Given the description of an element on the screen output the (x, y) to click on. 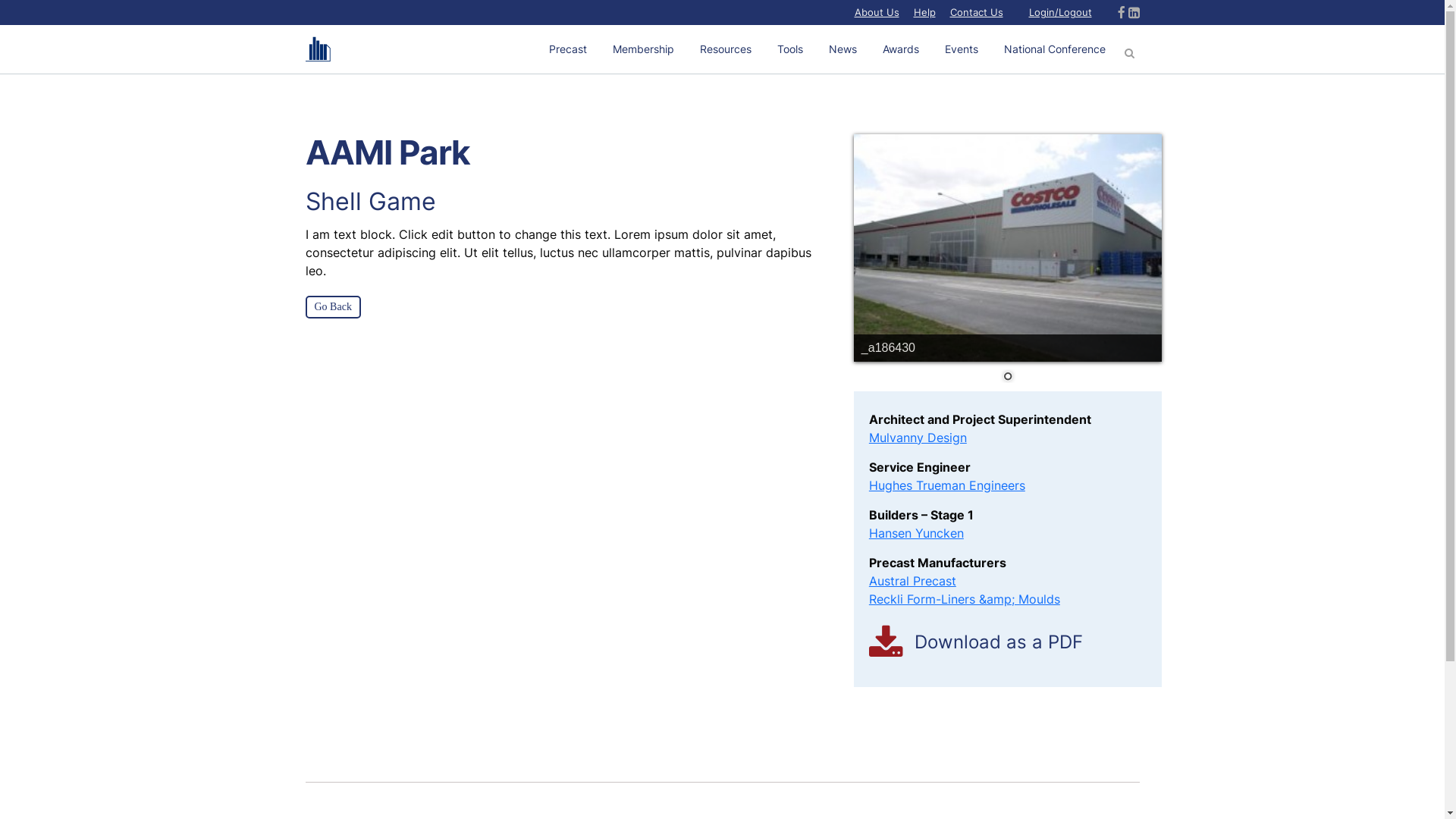
Hansen Yuncken Element type: text (916, 532)
Austral Precast Element type: text (912, 580)
Events Element type: text (960, 49)
Membership Element type: text (642, 49)
Contact Us Element type: text (975, 12)
1 Element type: text (1007, 377)
Hughes Trueman Engineers Element type: text (947, 484)
Mulvanny Design Element type: text (917, 437)
Precast Element type: text (567, 49)
Awards Element type: text (900, 49)
Resources Element type: text (725, 49)
Reckli Form-Liners &amp; Moulds Element type: text (964, 598)
Tools Element type: text (789, 49)
About Us Element type: text (875, 12)
Help Element type: text (924, 12)
News Element type: text (842, 49)
Login/Logout Element type: text (1059, 12)
Go Back Element type: text (332, 306)
National Conference Element type: text (1053, 49)
